Given the description of an element on the screen output the (x, y) to click on. 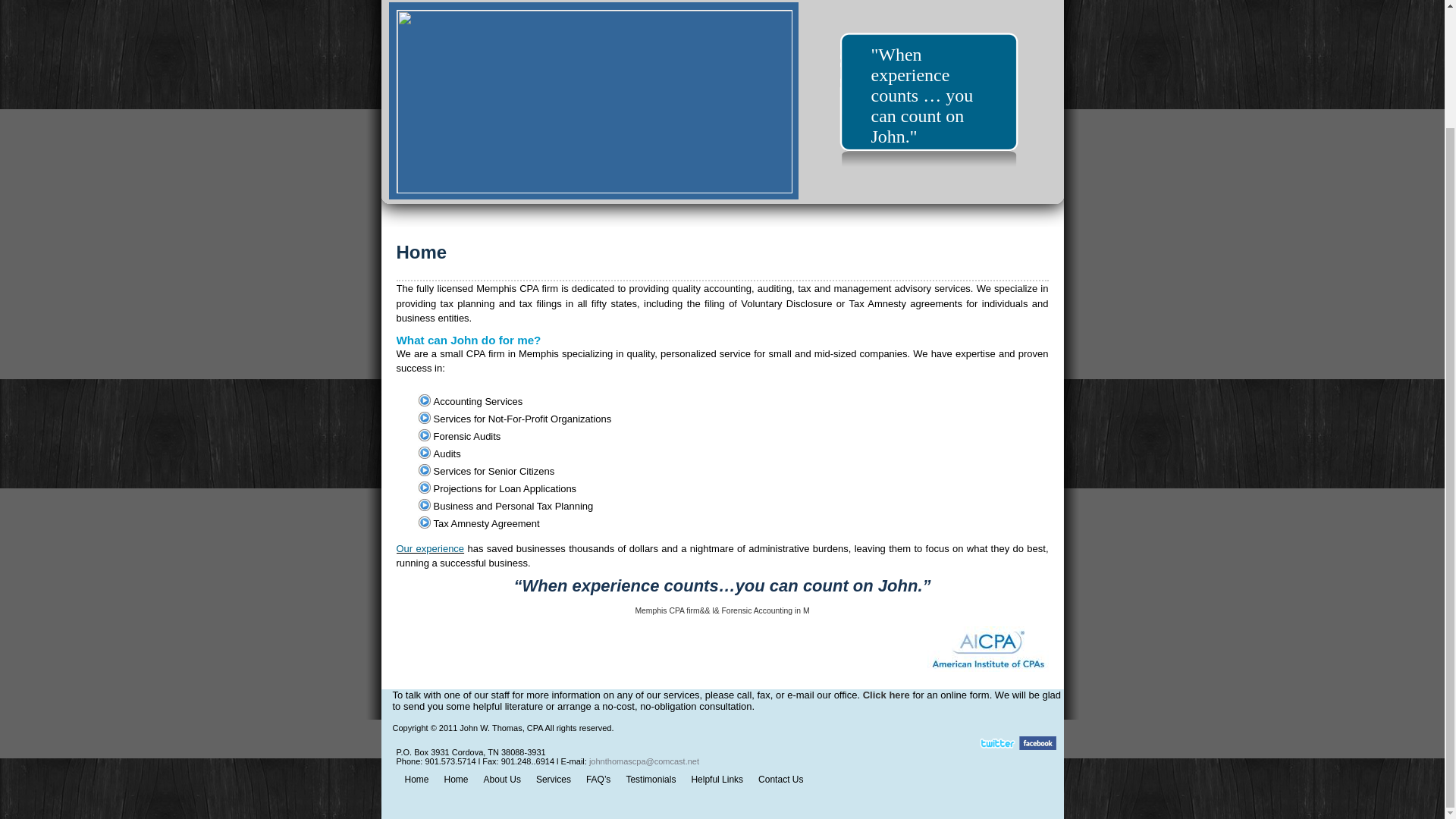
Home (416, 780)
Our experience (430, 547)
Home (456, 780)
Permanent Link to Home (421, 251)
Contact Us (780, 780)
Testimonials (649, 780)
Helpful Links (716, 780)
Click here (886, 695)
About Us (502, 780)
Home (421, 251)
